Given the description of an element on the screen output the (x, y) to click on. 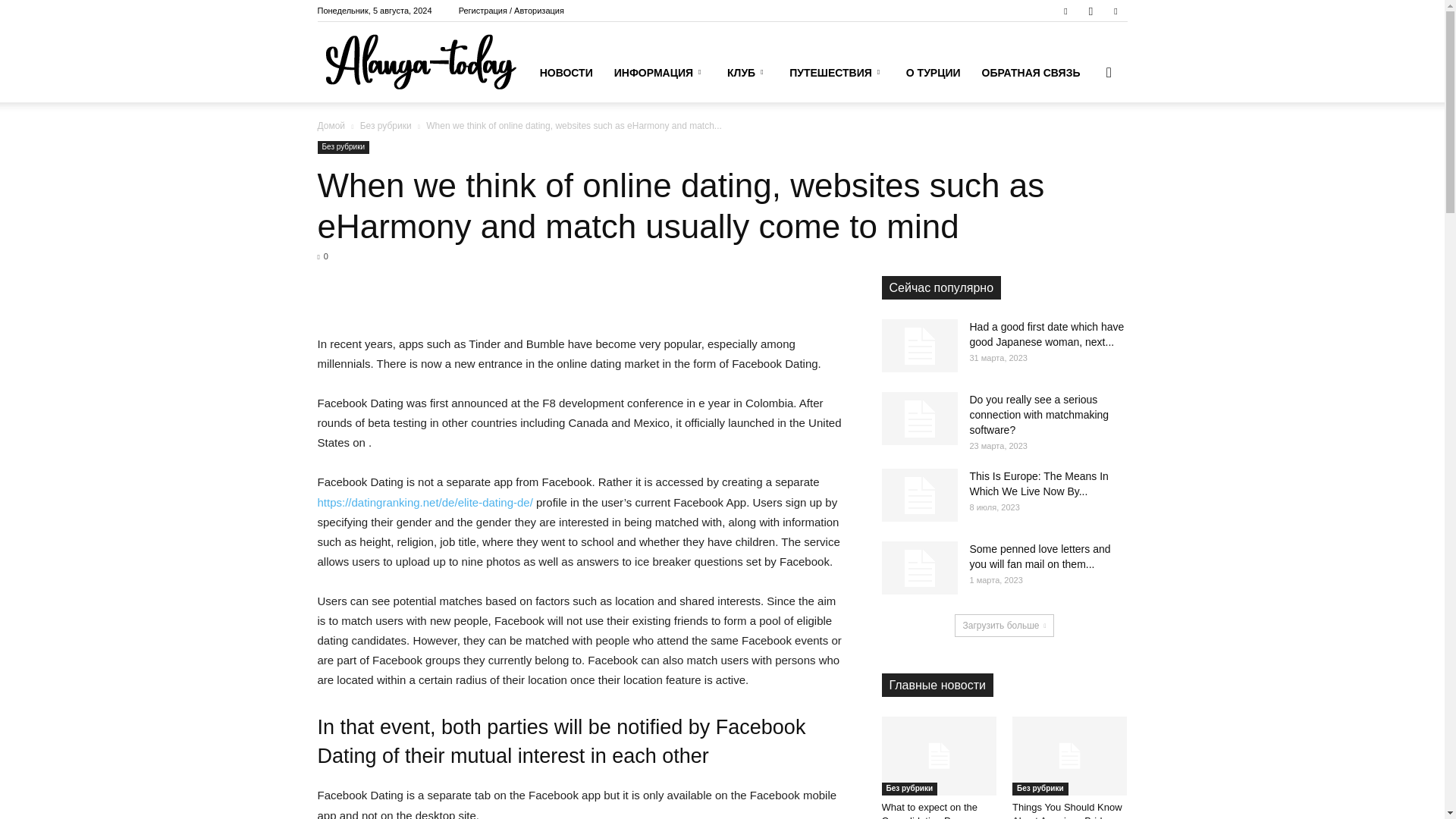
Youtube (1114, 10)
Alanya-Today.ru (419, 61)
Facebook (1065, 10)
Instagram (1090, 10)
